Given the description of an element on the screen output the (x, y) to click on. 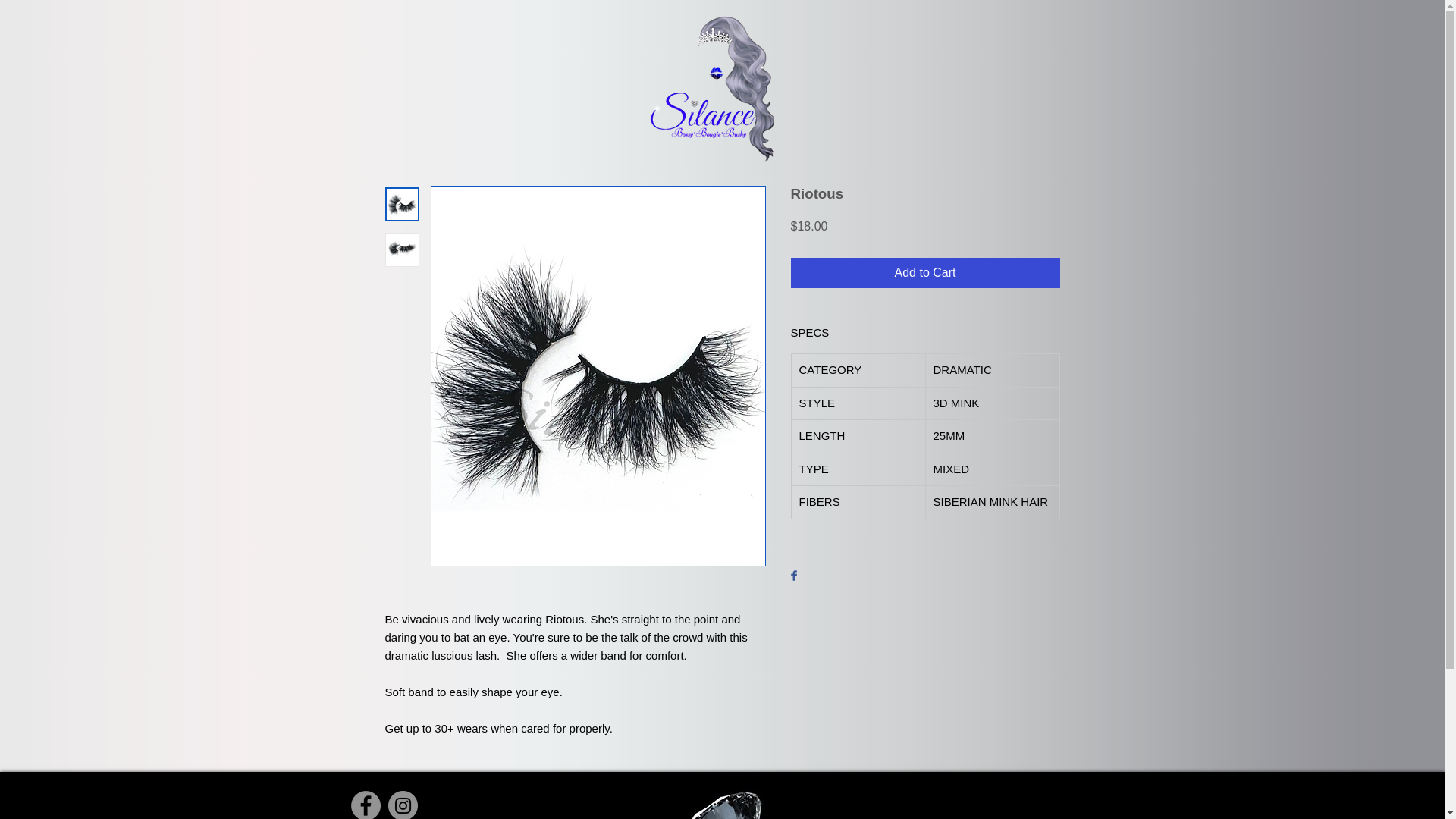
Add to Cart (924, 272)
SPECS (924, 332)
